Given the description of an element on the screen output the (x, y) to click on. 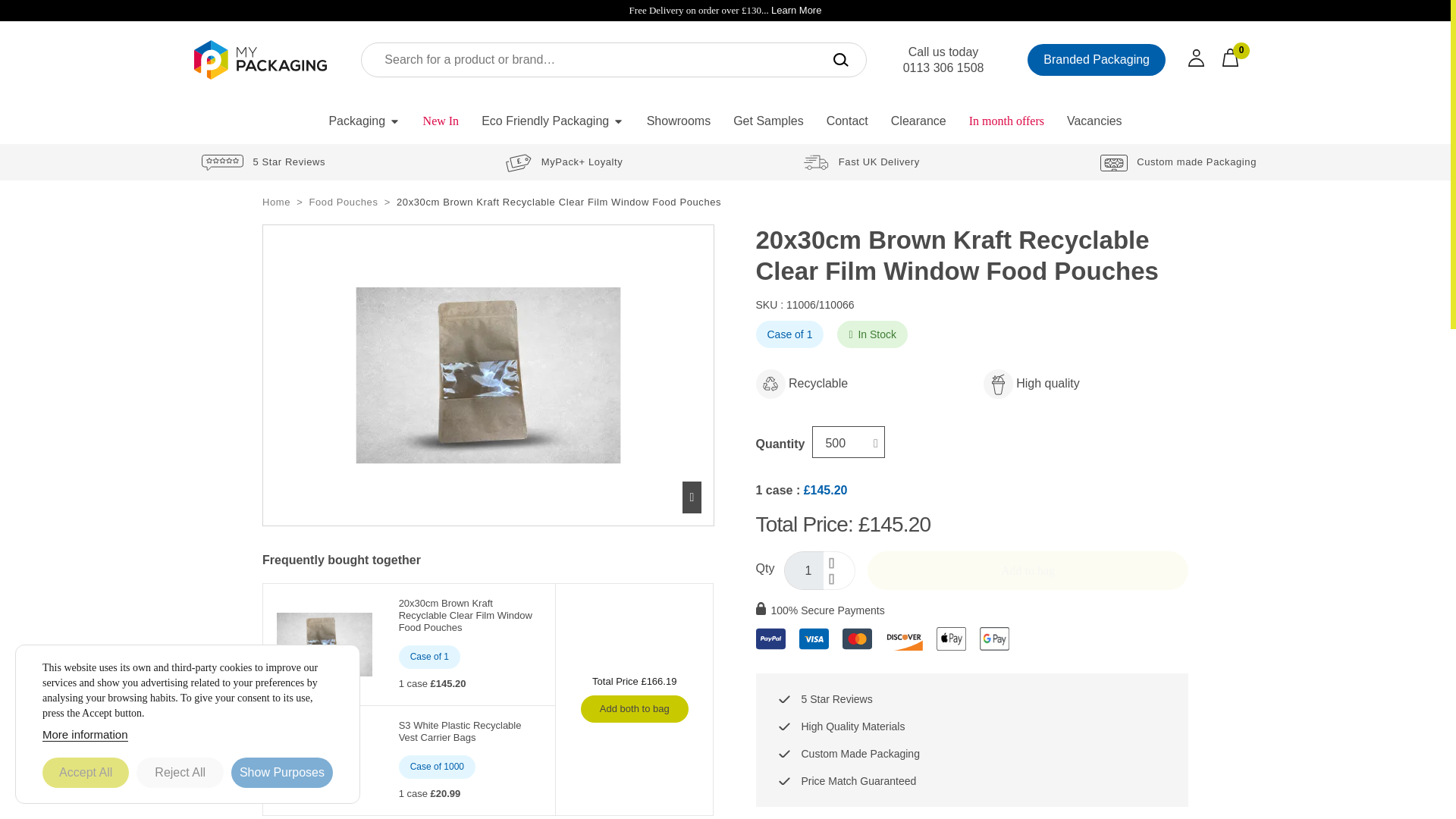
Clearance (918, 121)
Recyclable (769, 383)
High quality (998, 383)
New In (441, 121)
Branded Packaging (1096, 60)
1 (804, 570)
Showrooms (678, 121)
Packaging (363, 121)
In month offers (1006, 121)
Log in to your customer account (1205, 59)
0 (1239, 57)
Call us today 0113 306 1508 (943, 59)
Contact (847, 121)
Get Samples (767, 121)
